Given the description of an element on the screen output the (x, y) to click on. 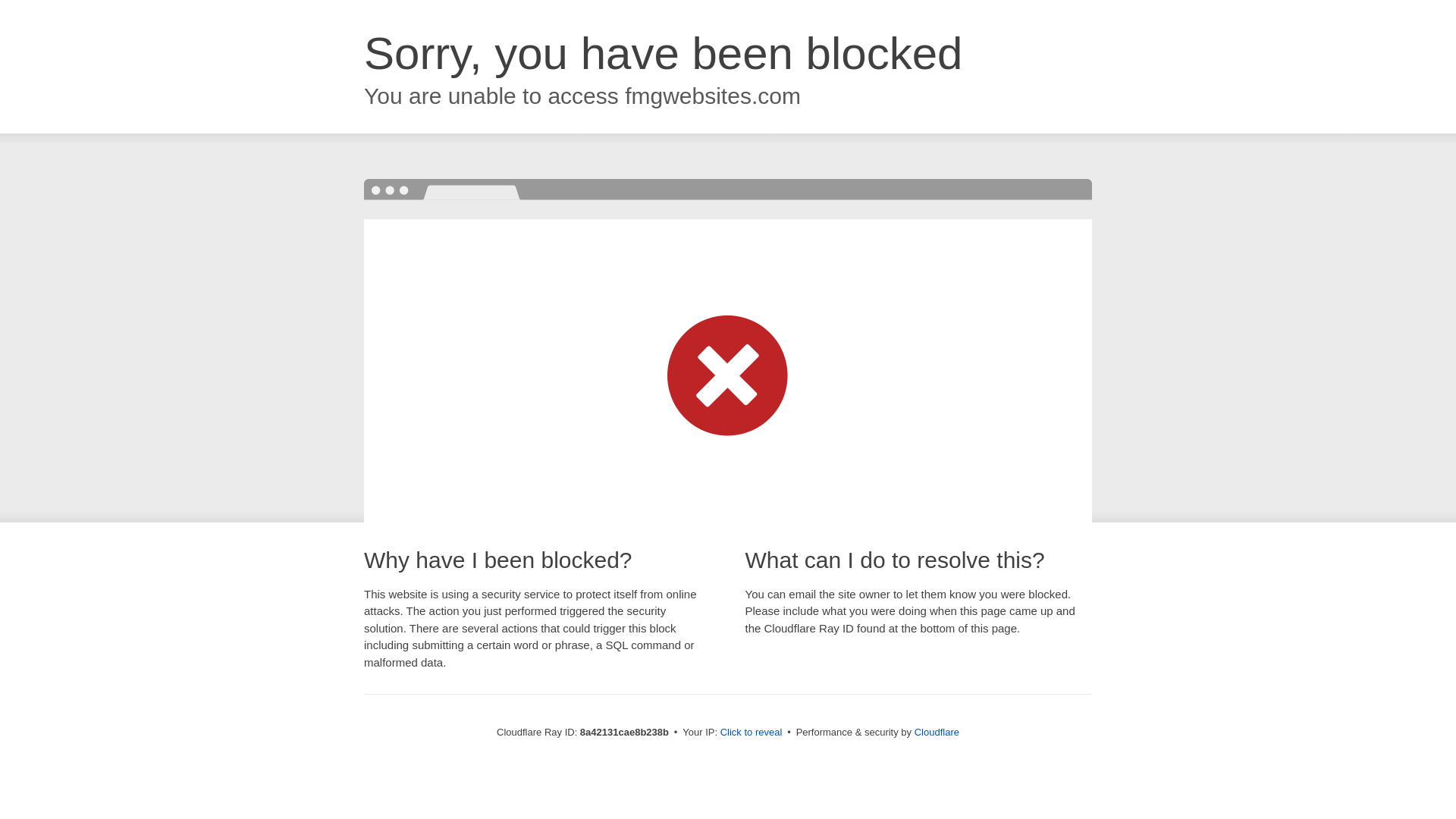
Click to reveal (751, 732)
Cloudflare (936, 731)
